Given the description of an element on the screen output the (x, y) to click on. 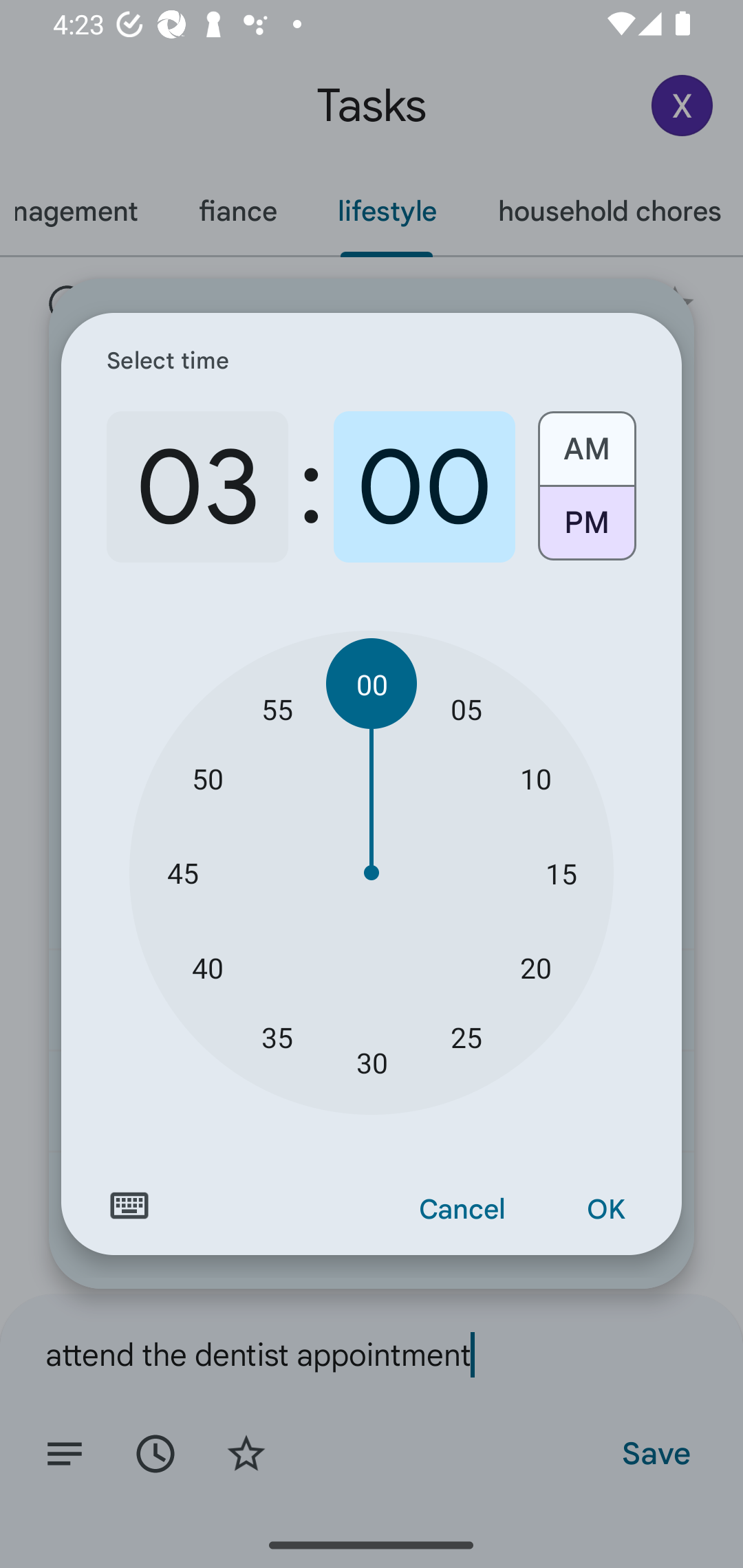
AM (586, 441)
03 3 o'clock (197, 486)
00 0 minutes (424, 486)
PM (586, 529)
00 00 minutes (371, 683)
55 55 minutes (276, 708)
05 05 minutes (466, 708)
50 50 minutes (207, 778)
10 10 minutes (535, 778)
45 45 minutes (182, 872)
15 15 minutes (561, 872)
40 40 minutes (207, 966)
20 20 minutes (535, 966)
35 35 minutes (276, 1035)
25 25 minutes (466, 1035)
30 30 minutes (371, 1062)
Switch to text input mode for the time input. (128, 1205)
Cancel (462, 1209)
OK (605, 1209)
